Given the description of an element on the screen output the (x, y) to click on. 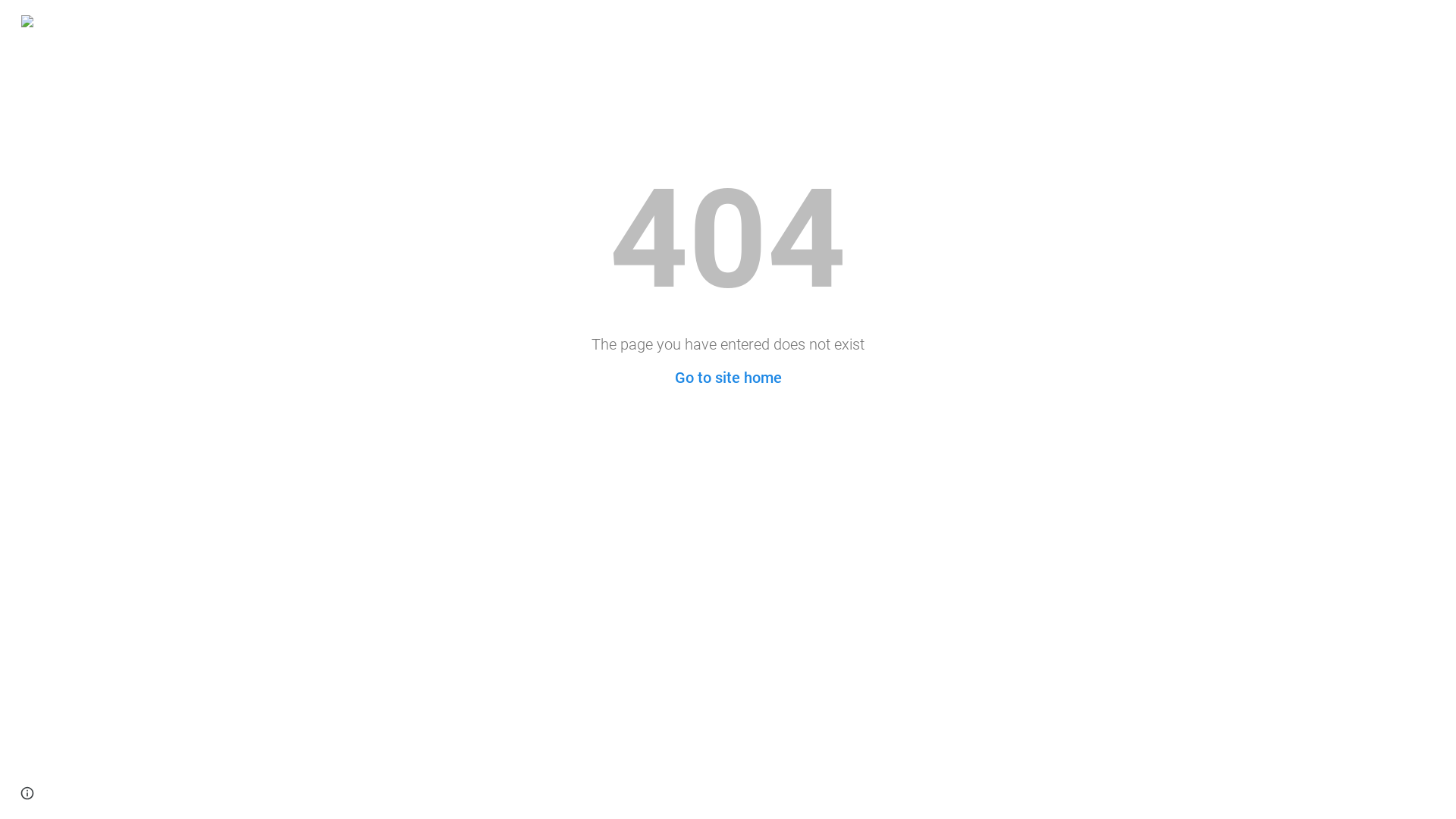
Go to site home Element type: text (727, 377)
